Given the description of an element on the screen output the (x, y) to click on. 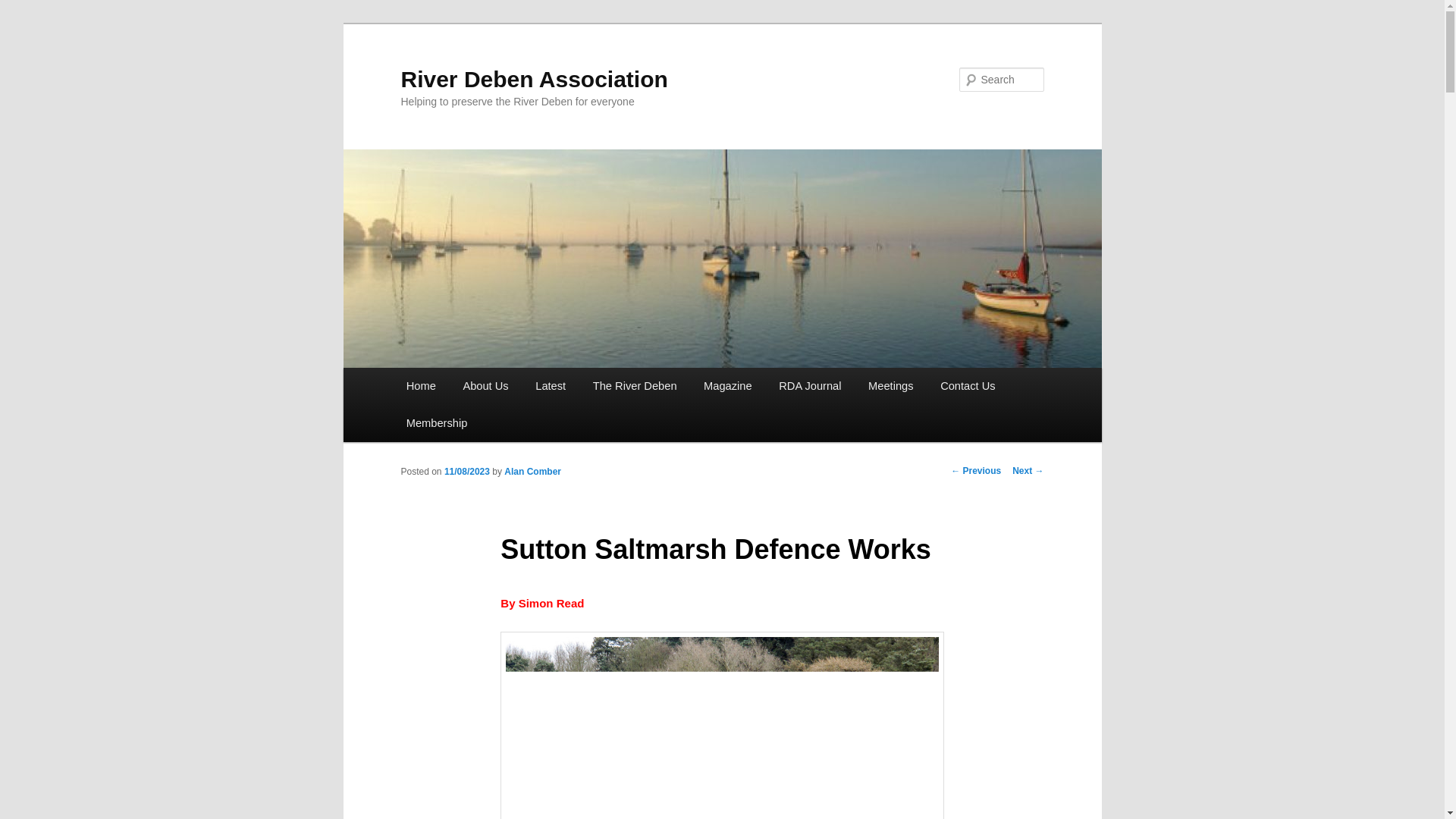
The River Deben (634, 385)
Search (24, 8)
Meetings (890, 385)
Magazine (727, 385)
Home (421, 385)
River Deben Association (533, 78)
About Us (485, 385)
RDA Journal (809, 385)
Latest (550, 385)
